Given the description of an element on the screen output the (x, y) to click on. 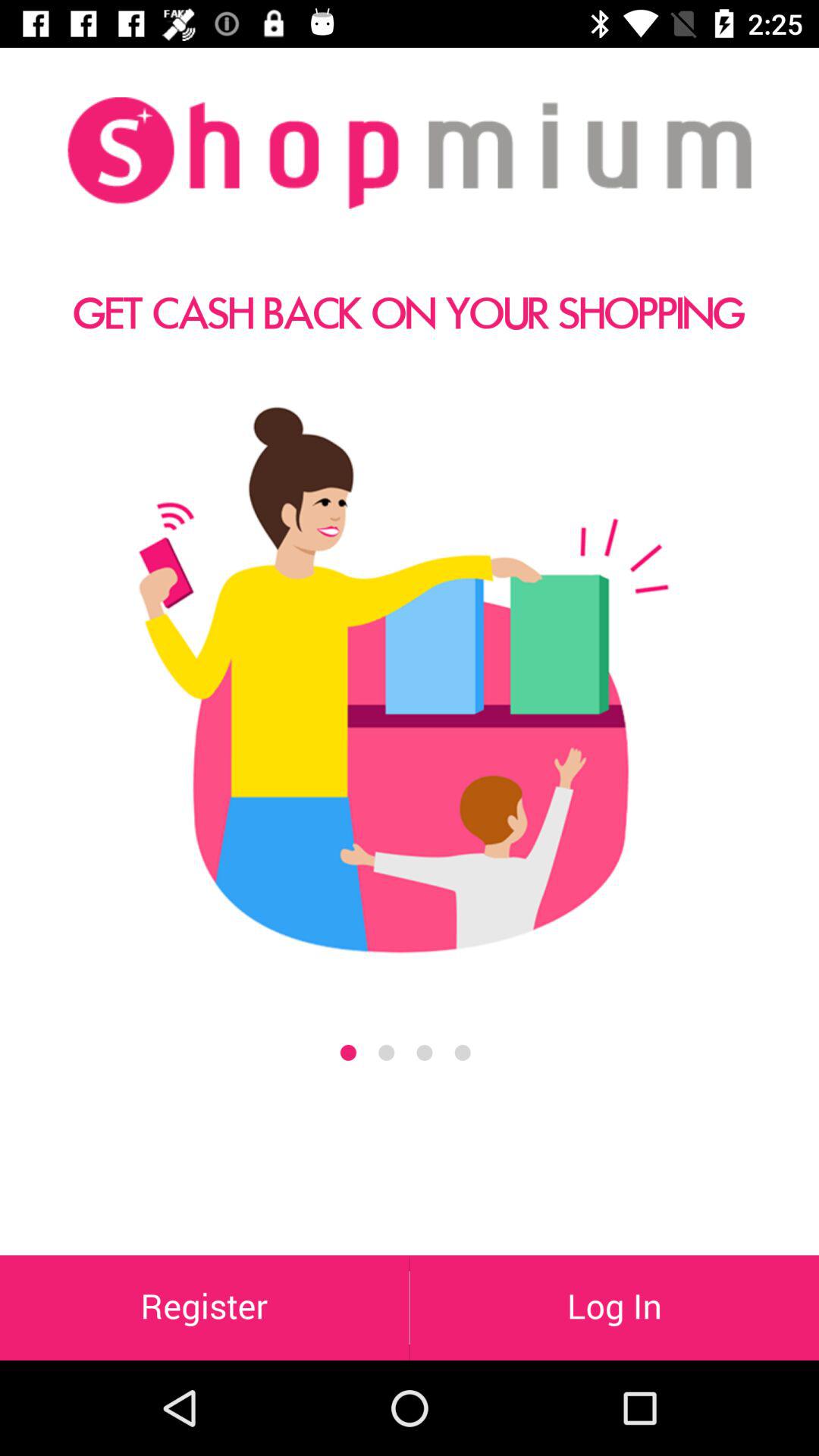
flip until the log in item (614, 1307)
